Given the description of an element on the screen output the (x, y) to click on. 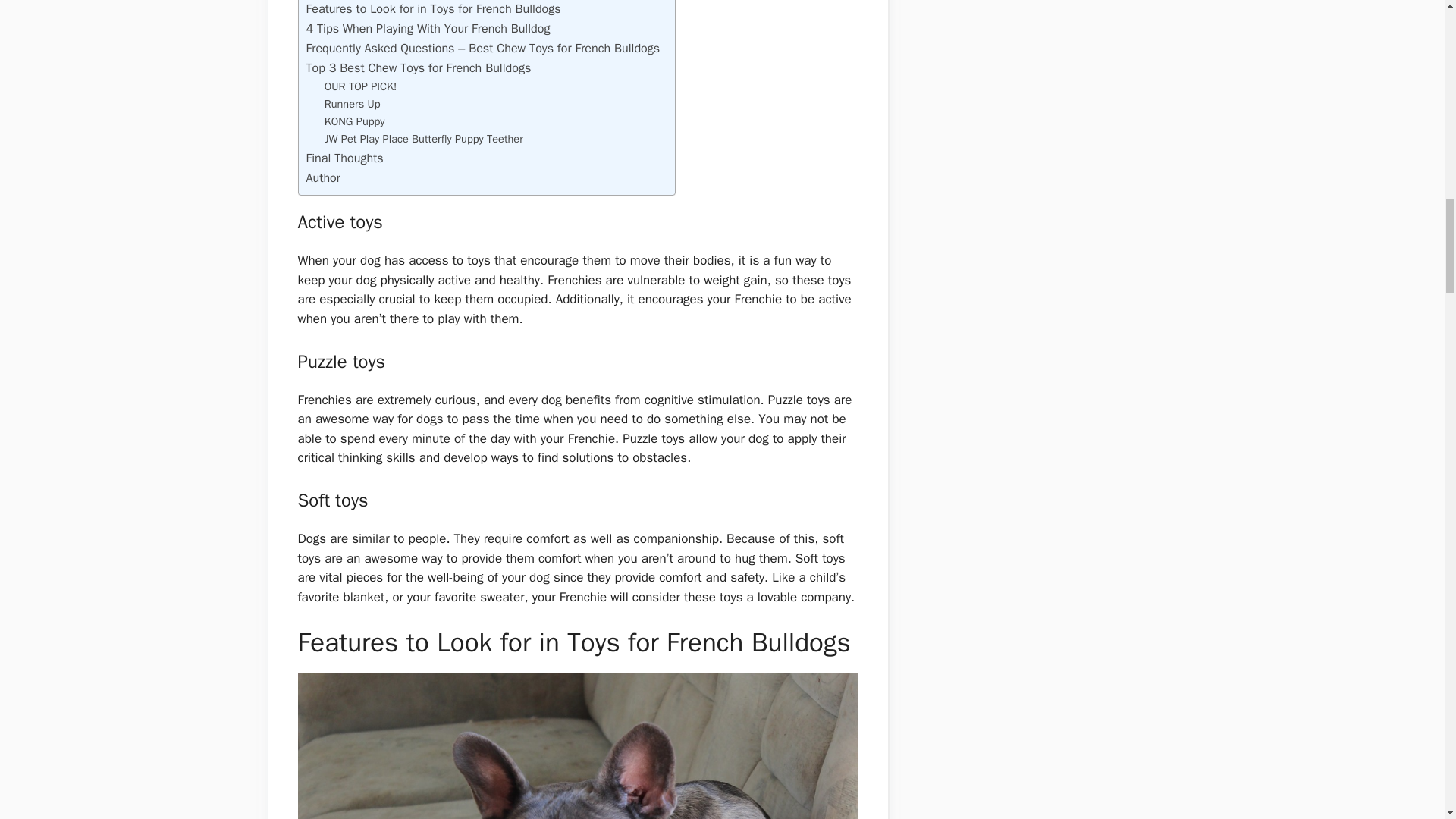
JW Pet Play Place Butterfly Puppy Teether (423, 139)
KONG Puppy (354, 121)
OUR TOP PICK! (360, 86)
OUR TOP PICK! (360, 86)
Top 3 Best Chew Toys for French Bulldogs (418, 67)
Features to Look for in Toys for French Bulldogs (432, 9)
Final Thoughts (344, 158)
Runners Up (352, 104)
 JW Pet Play Place Butterfly Puppy Teether (423, 139)
Final Thoughts (344, 158)
Top 3 Best Chew Toys for French Bulldogs (418, 67)
Author (322, 178)
4 Tips When Playing With Your French Bulldog (427, 28)
 KONG Puppy (354, 121)
4 Tips When Playing With Your French Bulldog (427, 28)
